Given the description of an element on the screen output the (x, y) to click on. 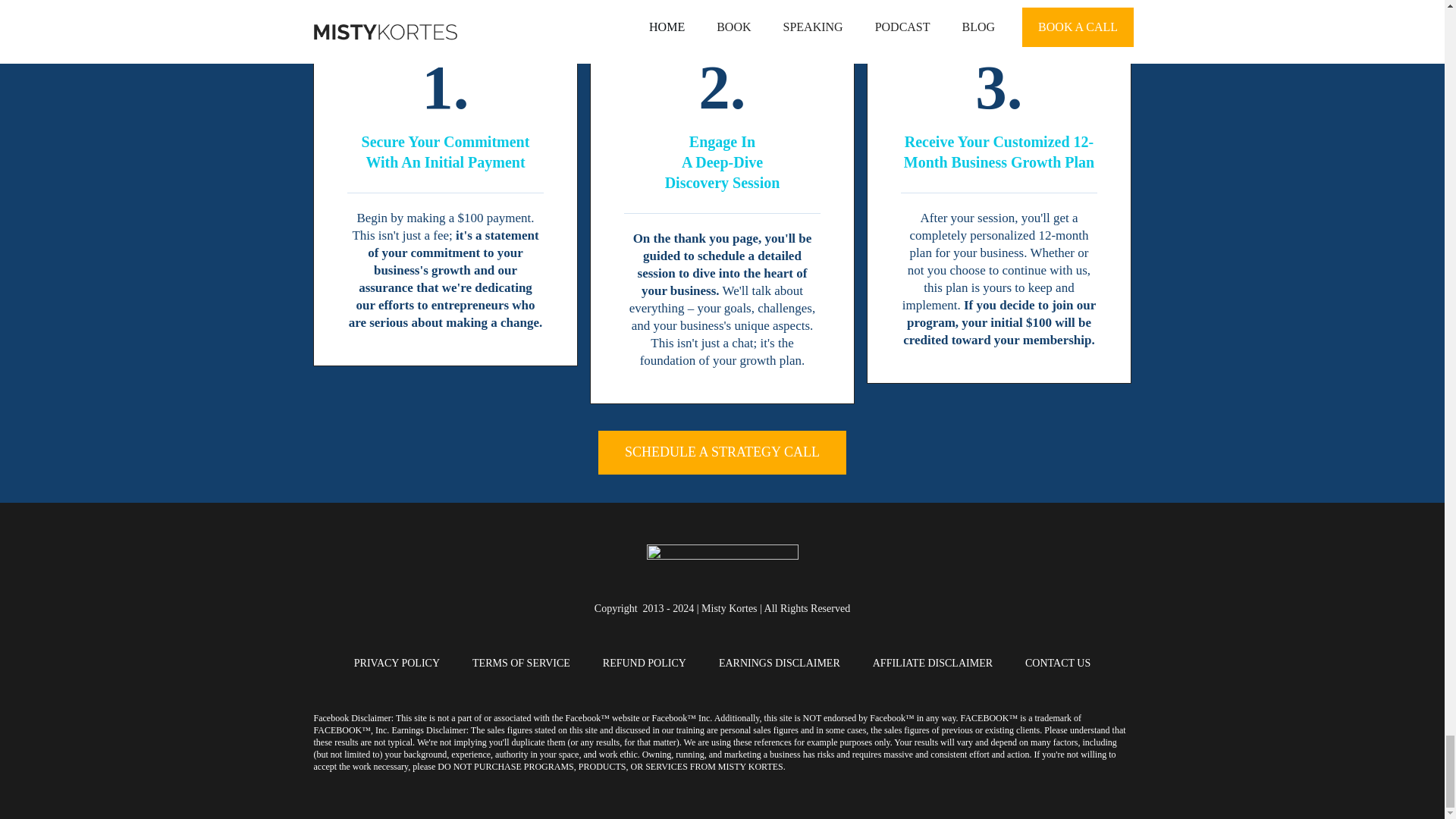
AFFILIATE DISCLAIMER (932, 663)
CONTACT US (1057, 663)
SCHEDULE A STRATEGY CALL (721, 452)
REFUND POLICY (643, 663)
TERMS OF SERVICE (520, 663)
PRIVACY POLICY (396, 663)
EARNINGS DISCLAIMER (779, 663)
